Given the description of an element on the screen output the (x, y) to click on. 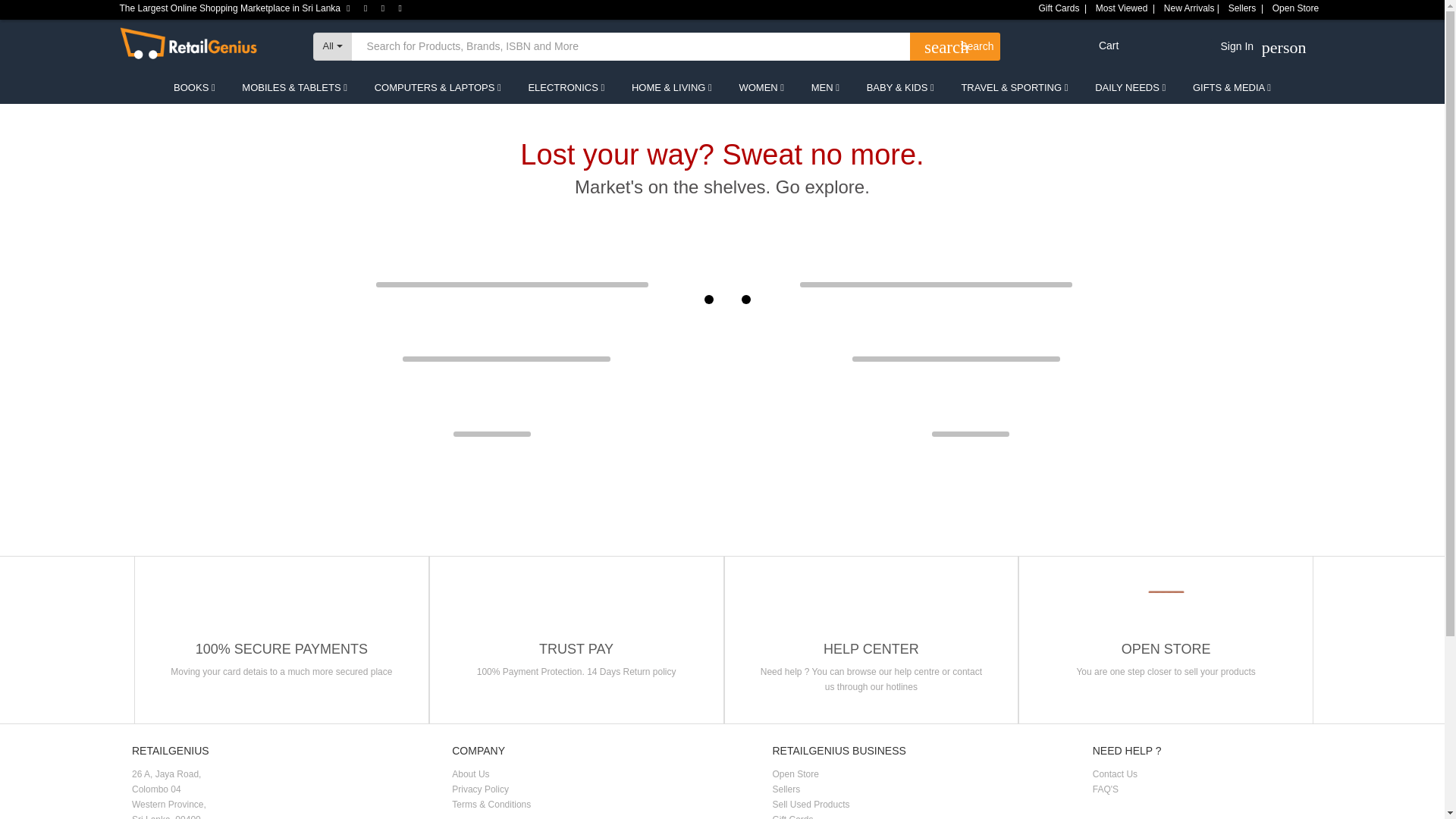
Cart (1122, 45)
All (1235, 49)
Open Store  (332, 45)
